Given the description of an element on the screen output the (x, y) to click on. 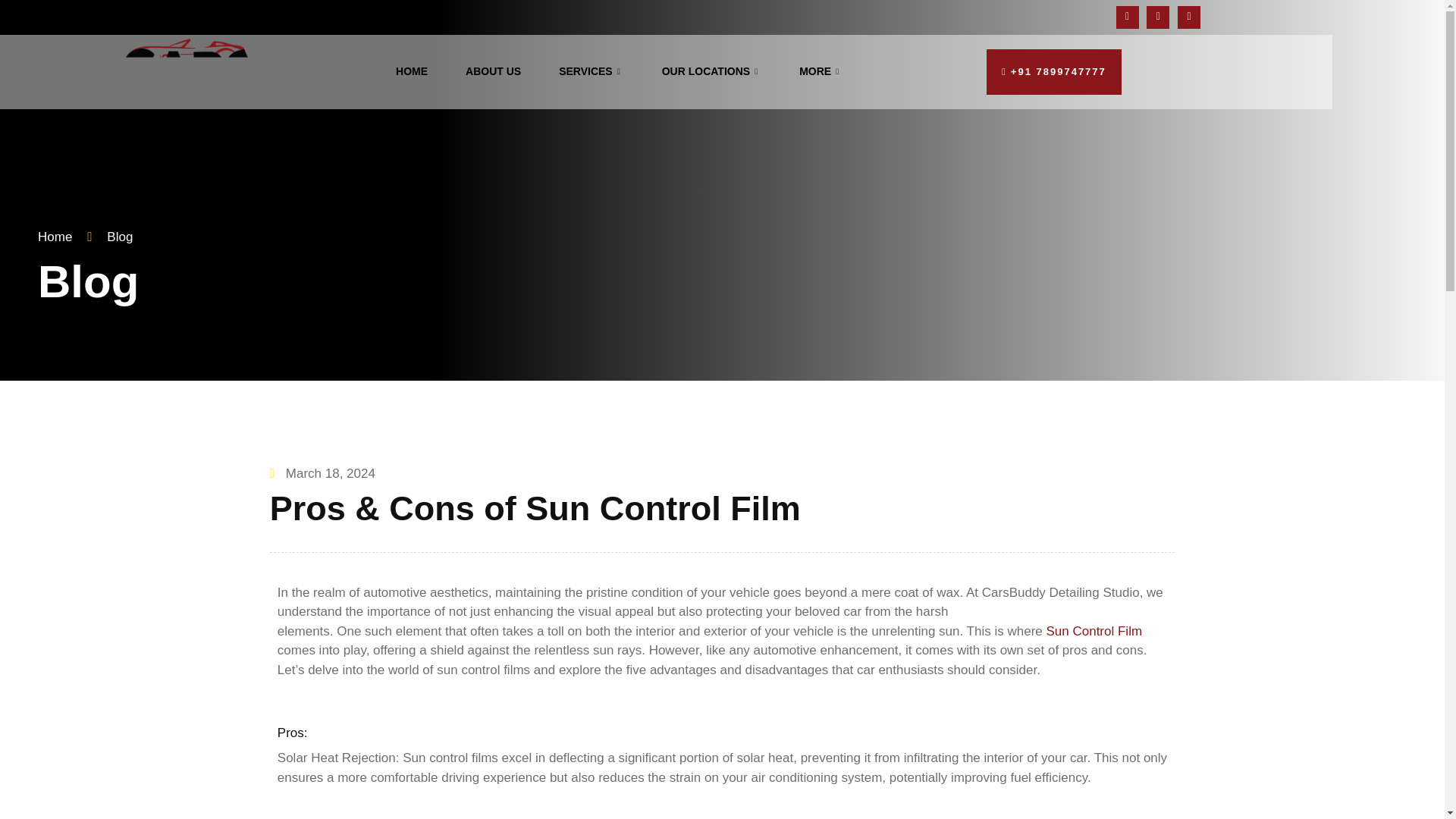
Sun Control Film (1093, 630)
HOME (411, 72)
ABOUT US (493, 72)
MORE (820, 72)
OUR LOCATIONS (711, 72)
Home (54, 237)
SERVICES (591, 72)
